Given the description of an element on the screen output the (x, y) to click on. 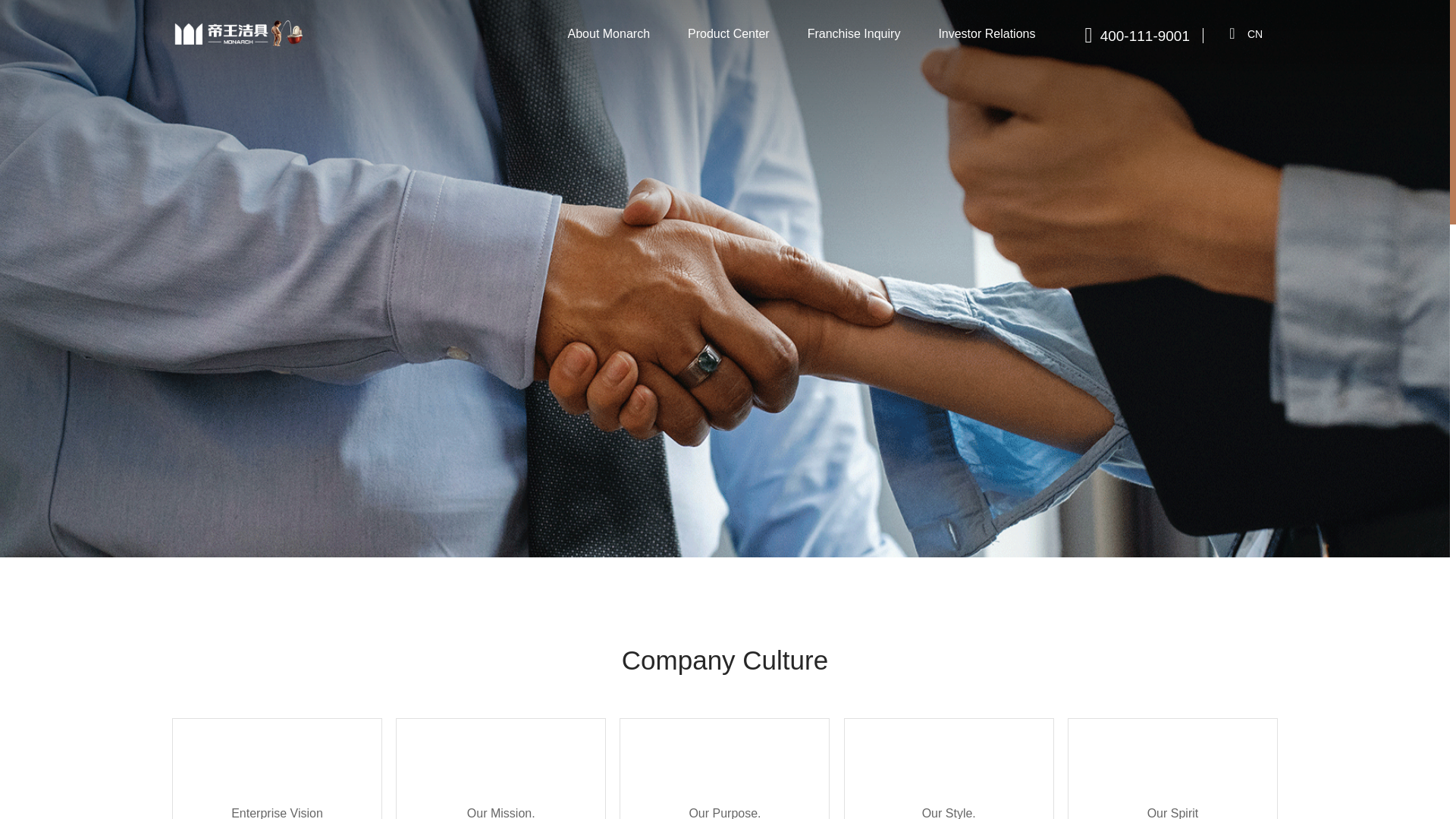
CN (1254, 33)
Product Center (728, 34)
Franchise Inquiry (854, 34)
About Monarch (608, 34)
Investor Relations (986, 34)
